Given the description of an element on the screen output the (x, y) to click on. 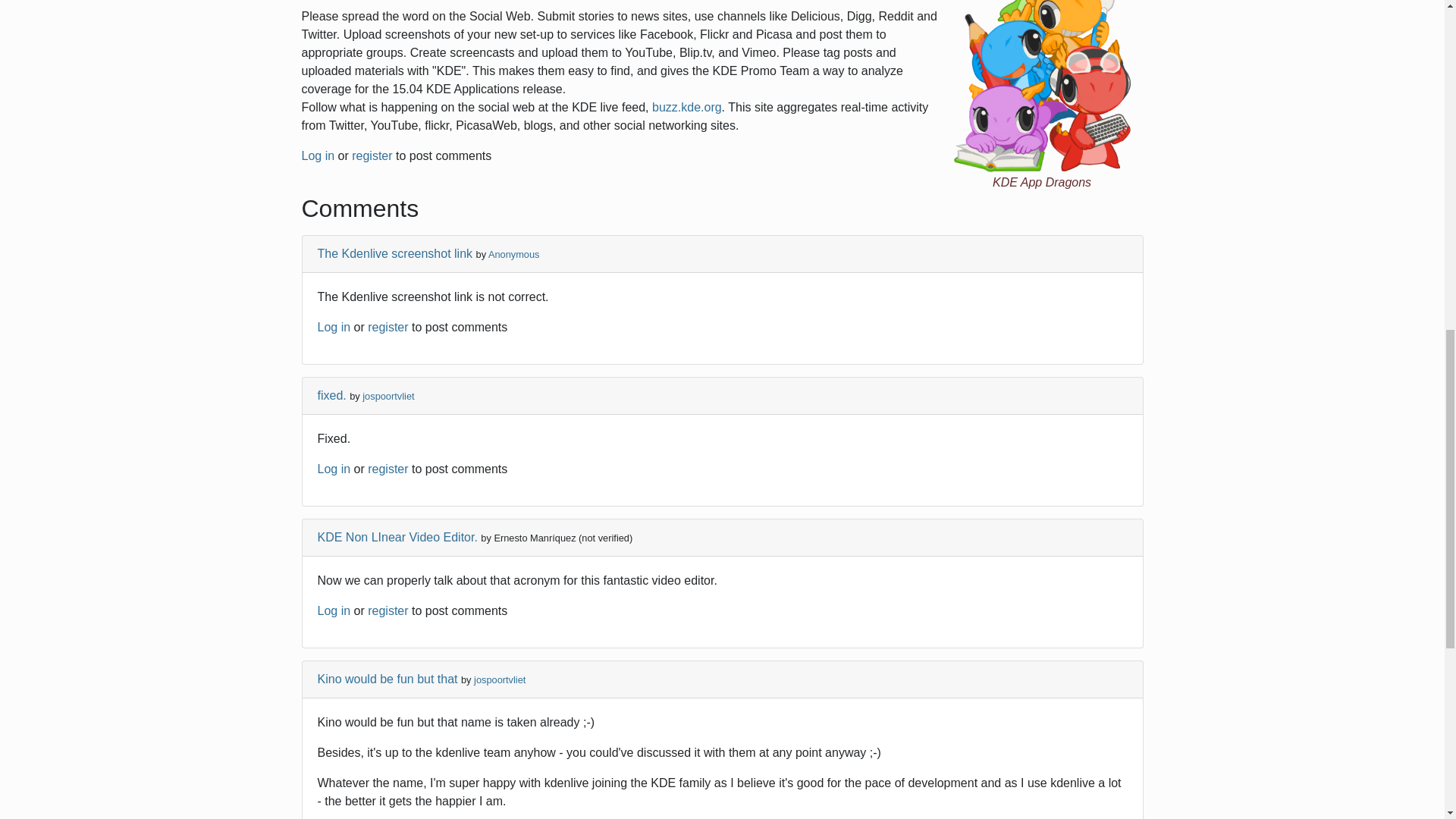
The Kdenlive screenshot link (394, 253)
View user profile. (513, 254)
Log in (317, 155)
register (387, 610)
buzz.kde.org (687, 106)
register (387, 327)
jospoortvliet (499, 679)
Kino would be fun but that (387, 678)
Log in (333, 610)
View user profile. (499, 679)
